Given the description of an element on the screen output the (x, y) to click on. 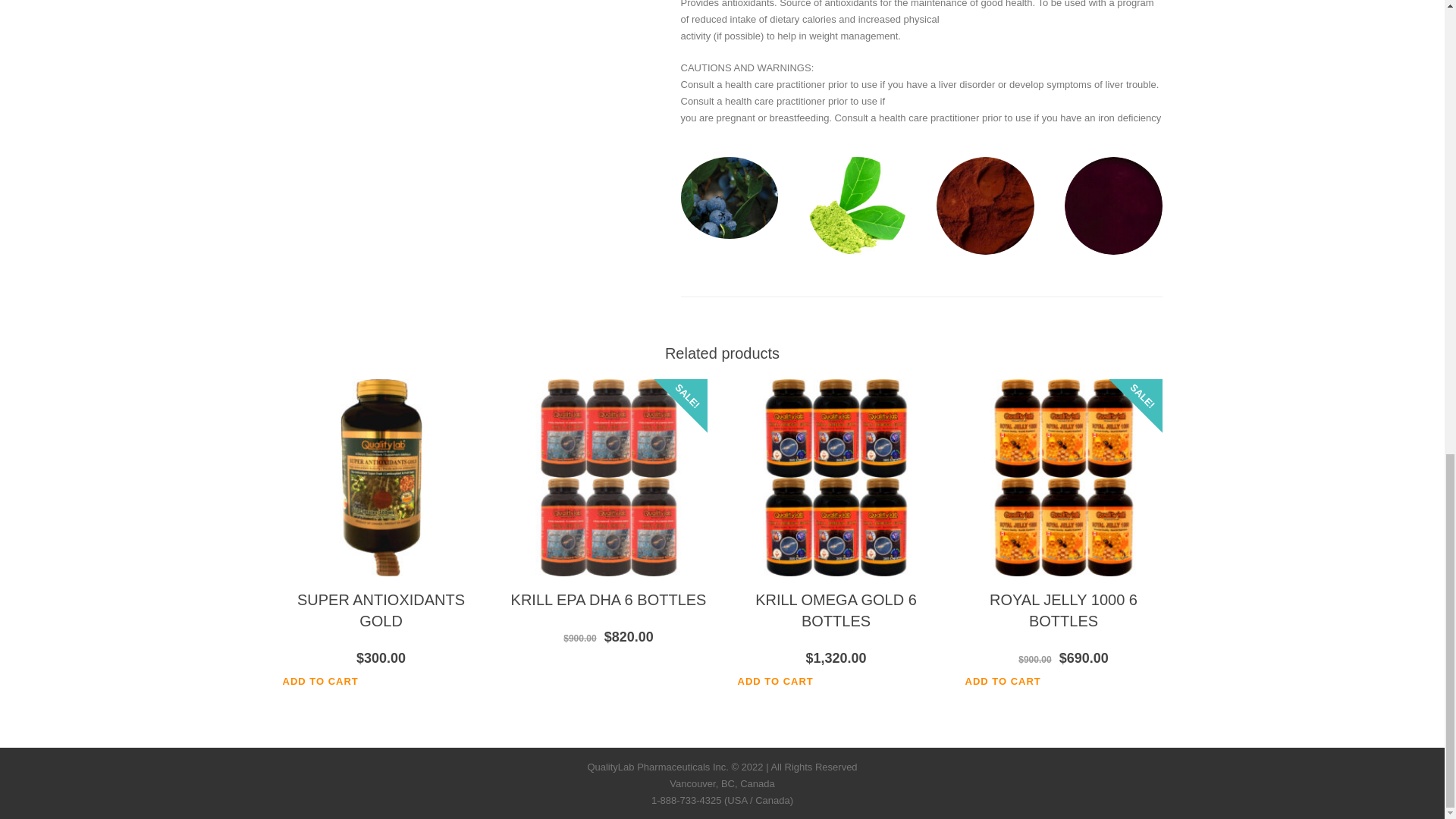
pg8 (1112, 205)
pg6 (856, 205)
pg7 (984, 205)
pg5 (729, 198)
